Given the description of an element on the screen output the (x, y) to click on. 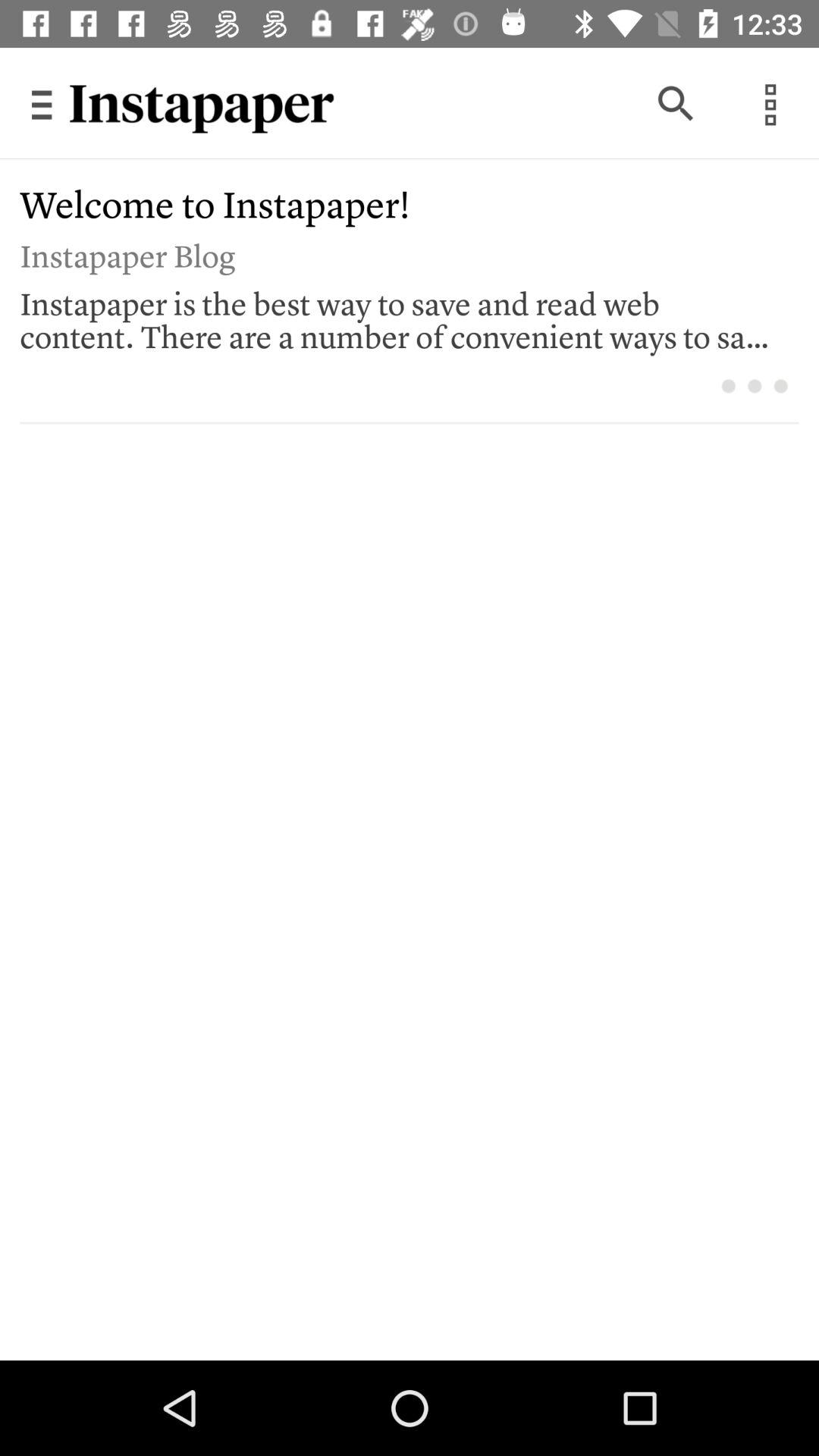
open icon below the instapaper is the item (728, 386)
